Given the description of an element on the screen output the (x, y) to click on. 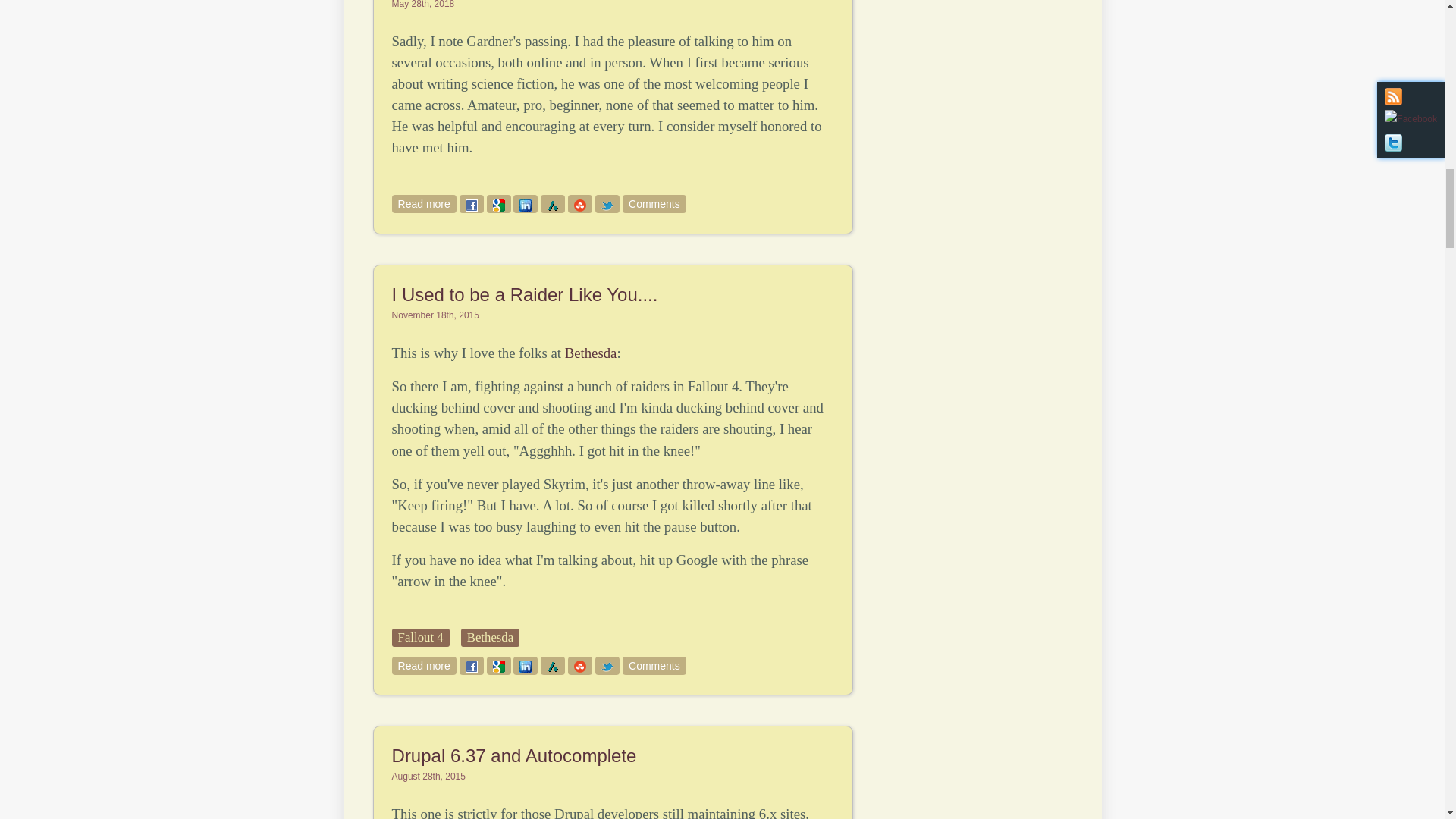
Bookmark this post on Google (424, 665)
Gardner Dozois (498, 203)
Bethesda (424, 203)
Comments (424, 203)
Share on Facebook (590, 352)
Share this on Twitter (654, 203)
Fallout 4 (471, 203)
Thumb this up at StumbleUpon (607, 203)
